Given the description of an element on the screen output the (x, y) to click on. 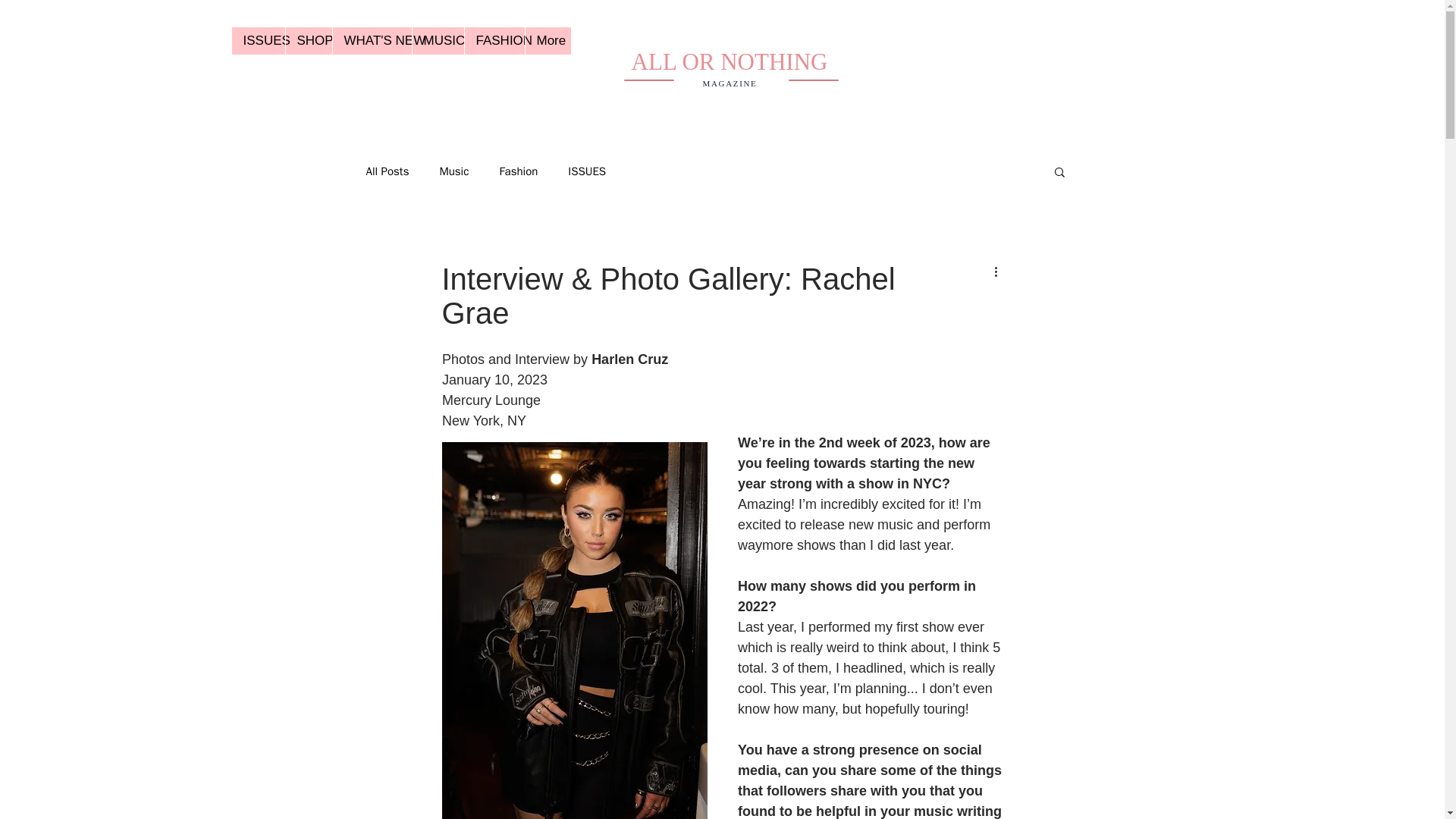
All Posts (387, 170)
SHOP (308, 40)
Fashion (518, 170)
MAGAZINE (730, 82)
FASHION (494, 40)
ISSUES (258, 40)
Music (453, 170)
ALL OR NOTHING (729, 61)
ISSUES (586, 170)
MUSIC (436, 40)
